Given the description of an element on the screen output the (x, y) to click on. 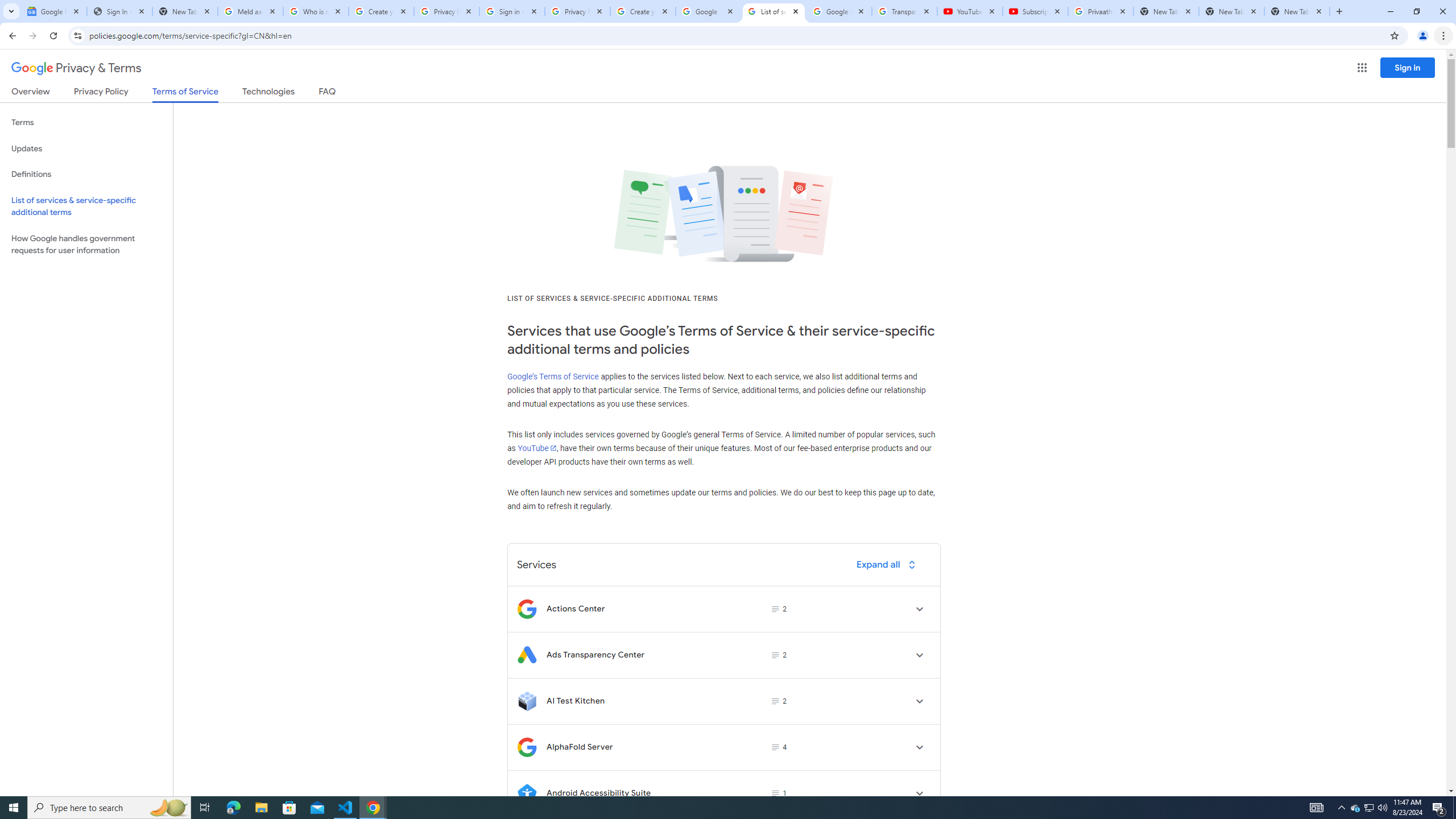
New Tab (1297, 11)
Logo for AI Test Kitchen (526, 700)
Privacy Policy (100, 93)
Logo for AlphaFold Server (526, 746)
Terms (86, 122)
Logo for Actions Center (526, 608)
